Given the description of an element on the screen output the (x, y) to click on. 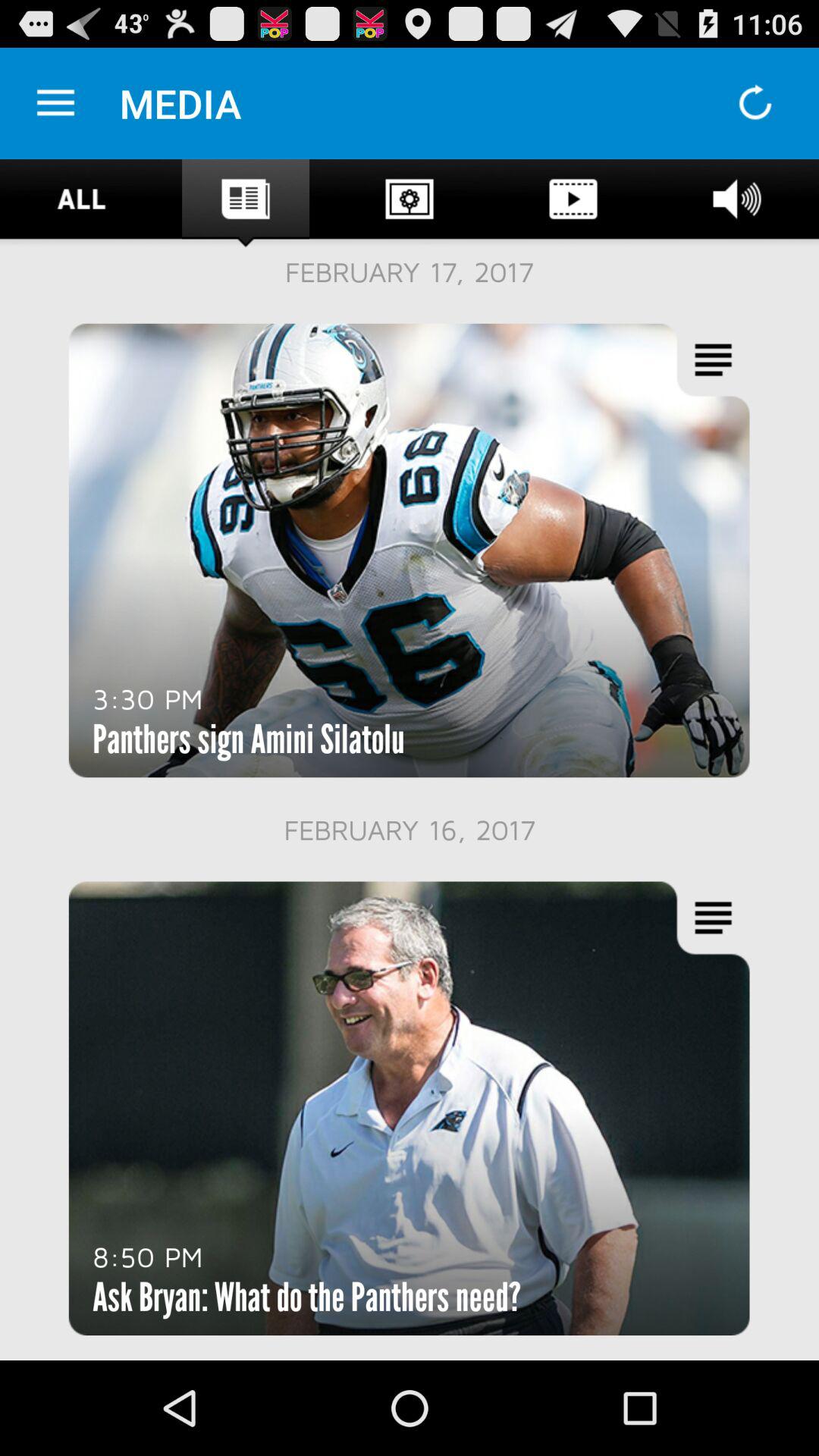
menu page (55, 103)
